Given the description of an element on the screen output the (x, y) to click on. 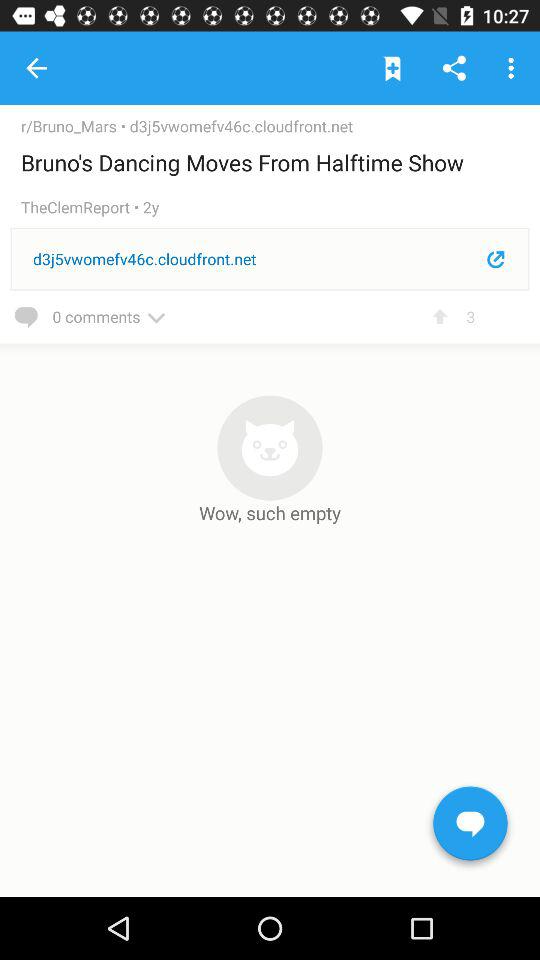
start chat (470, 827)
